Given the description of an element on the screen output the (x, y) to click on. 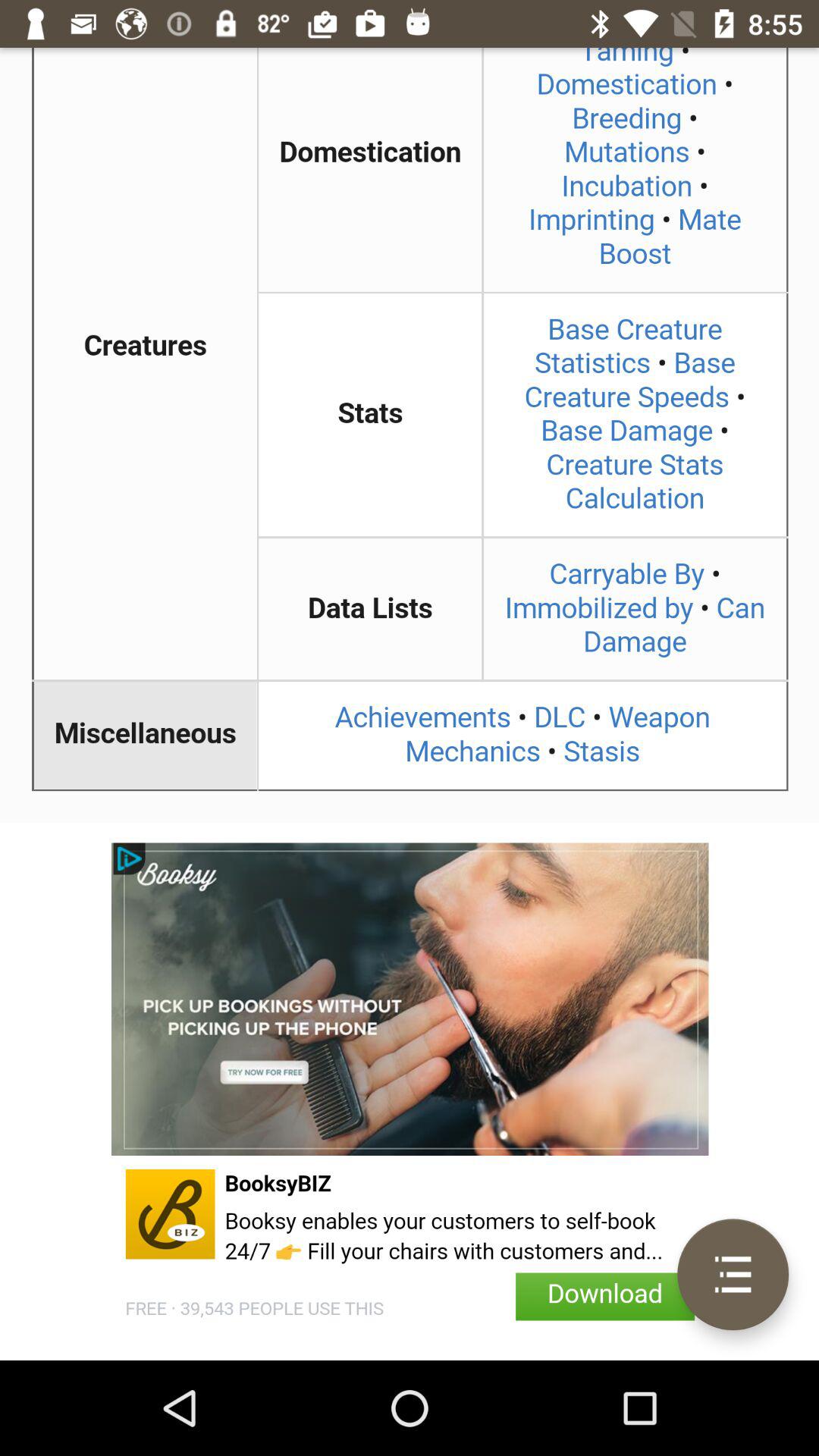
its a menu (732, 1274)
